Given the description of an element on the screen output the (x, y) to click on. 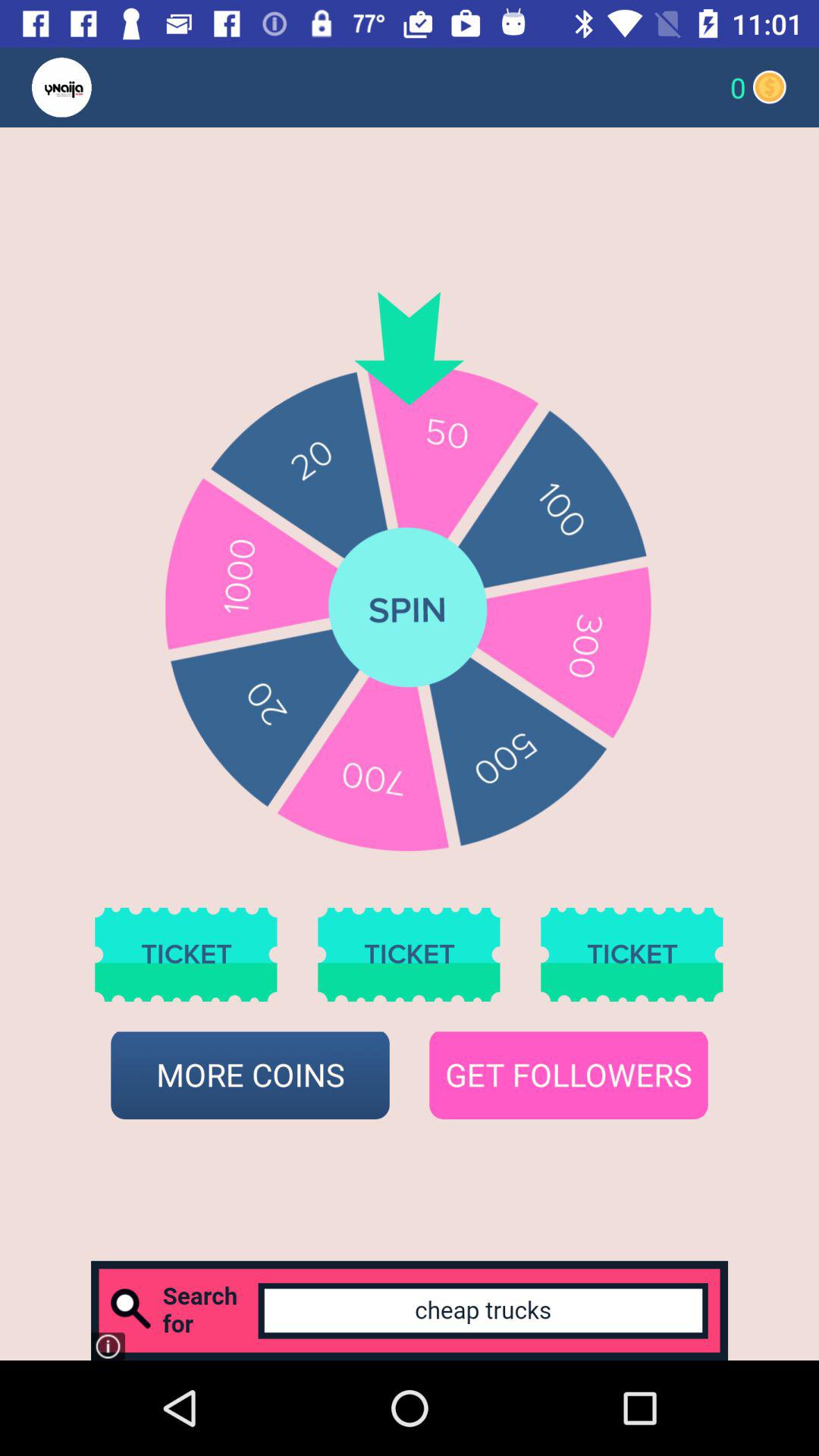
search bar (409, 1310)
